Given the description of an element on the screen output the (x, y) to click on. 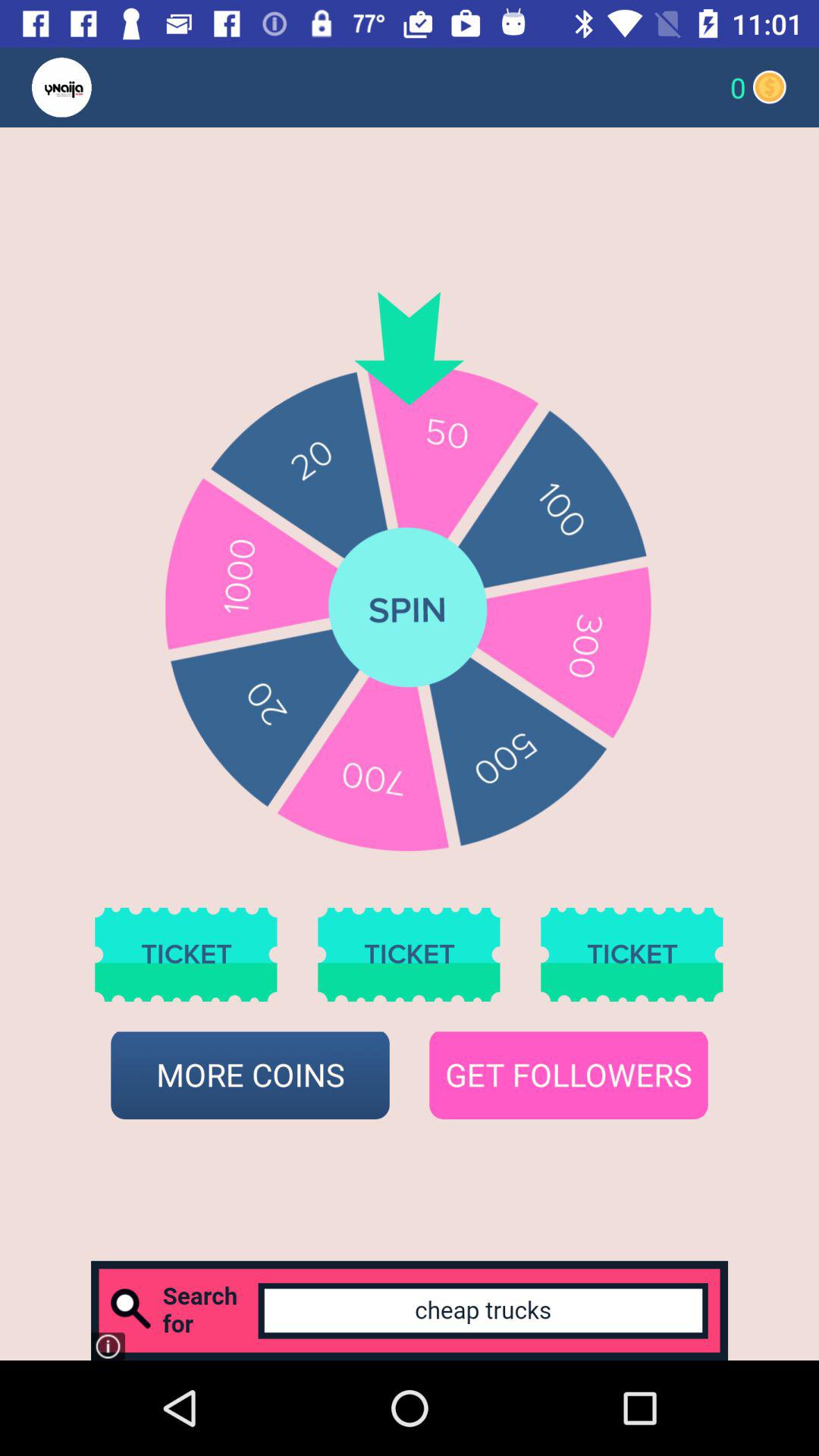
search bar (409, 1310)
